Given the description of an element on the screen output the (x, y) to click on. 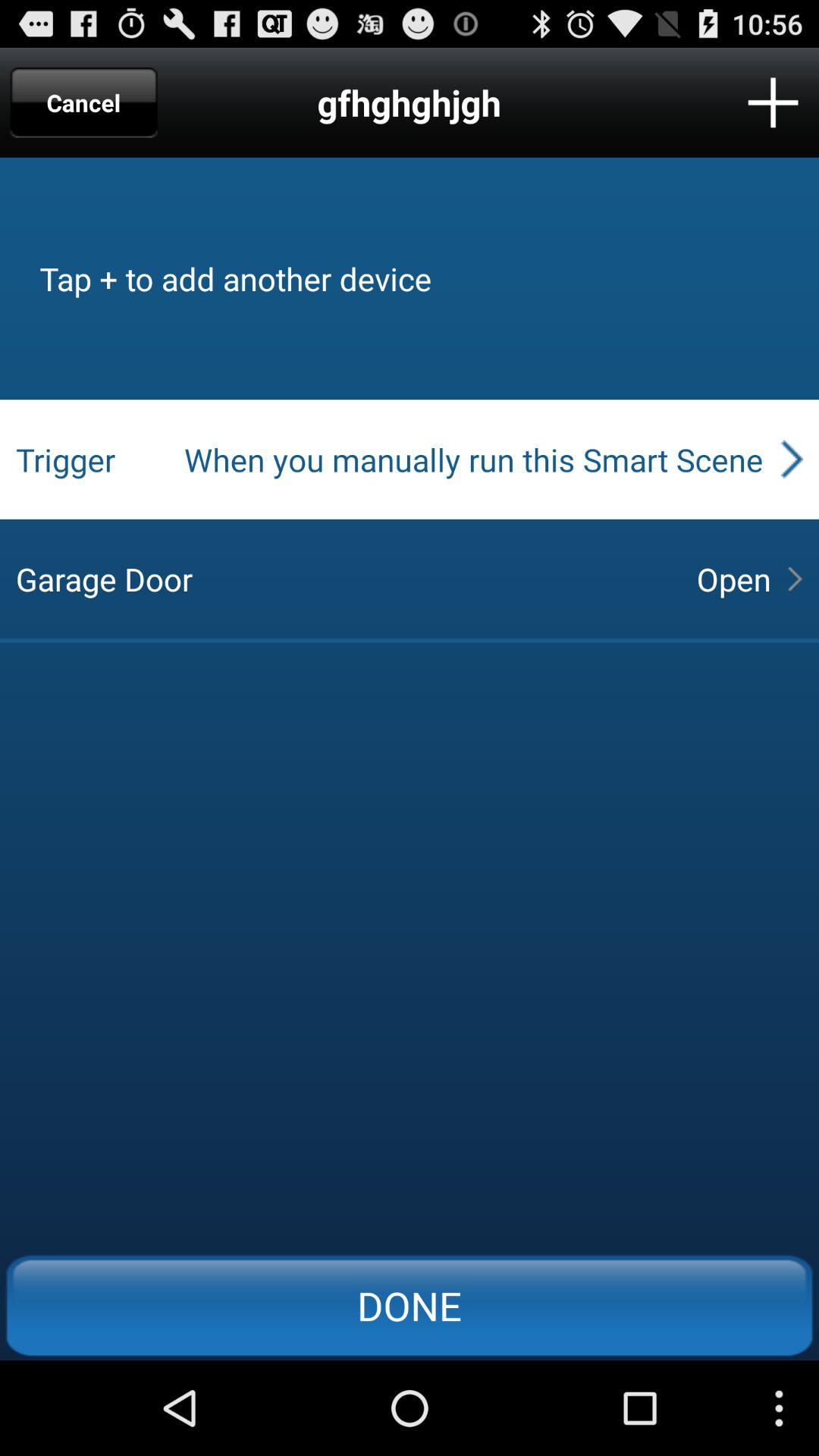
open done button (409, 1305)
